Given the description of an element on the screen output the (x, y) to click on. 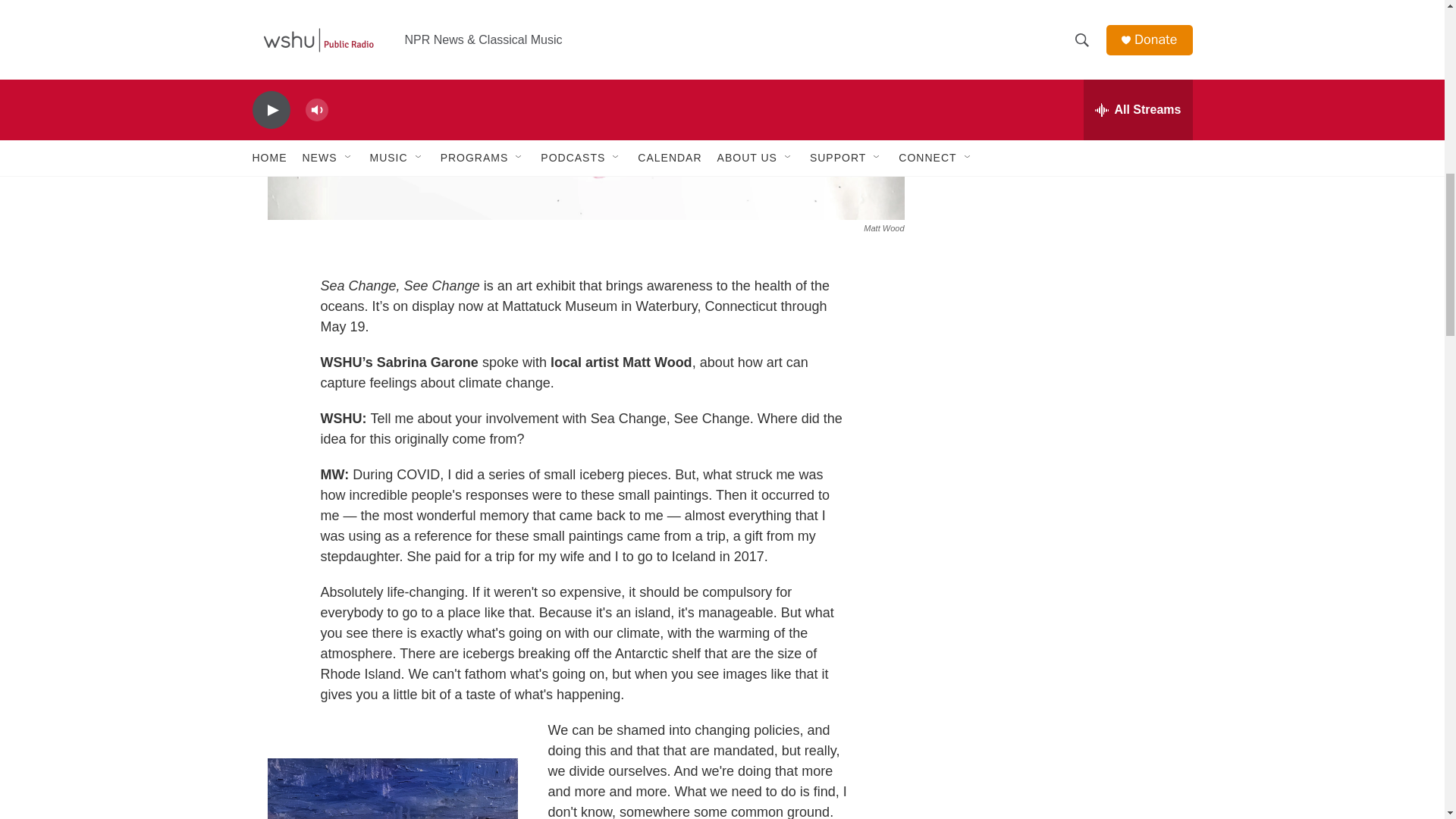
3rd party ad content (1062, 16)
